Given the description of an element on the screen output the (x, y) to click on. 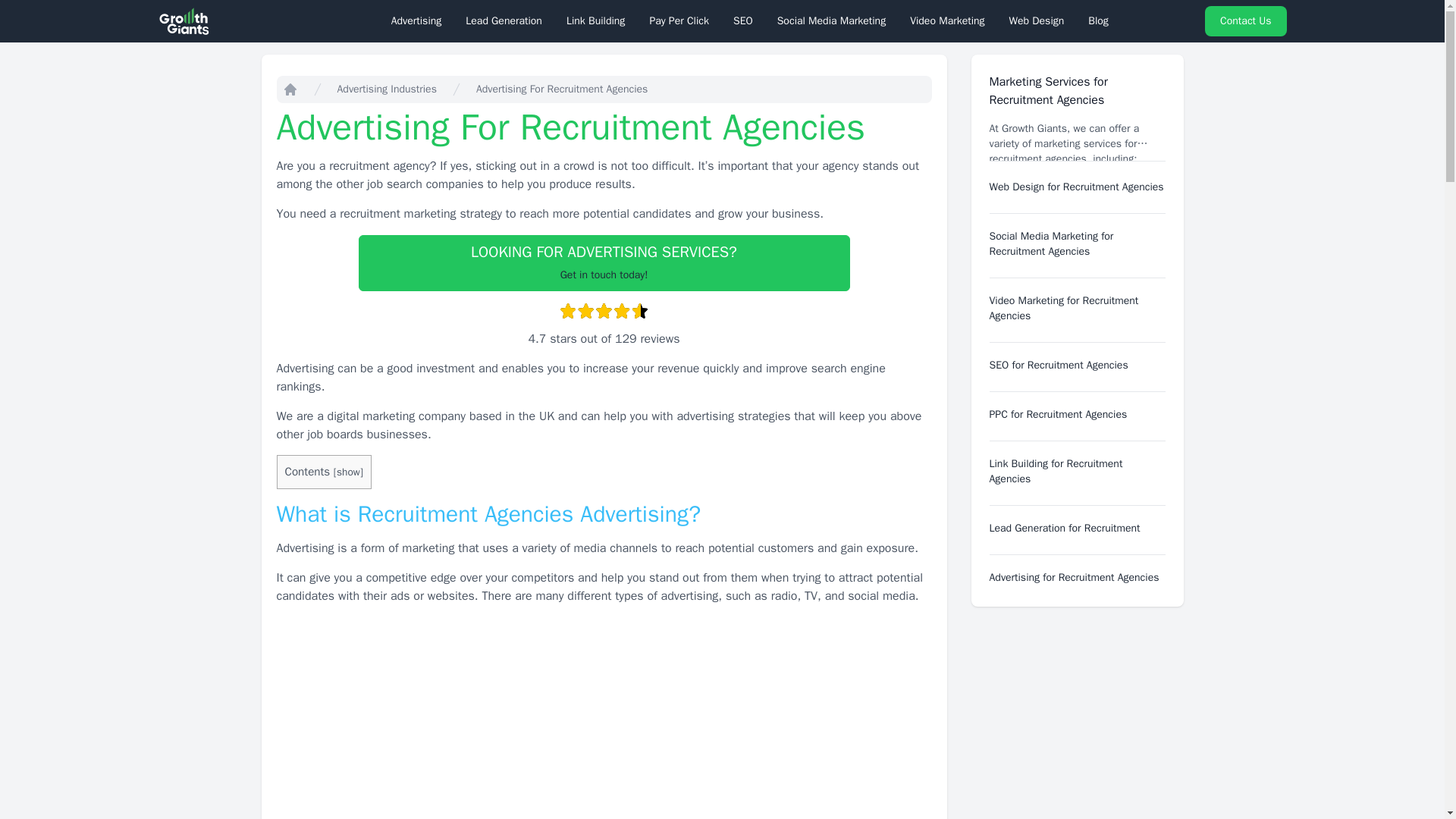
SEO (742, 20)
Home (289, 89)
PPC for Recruitment Agencies (1057, 413)
Video Marketing (947, 20)
Link Building for Recruitment Agencies (1055, 471)
Social Media Marketing (831, 20)
Lead Generation (503, 20)
Link Building (595, 20)
Advertising For Recruitment Agencies (603, 263)
